Given the description of an element on the screen output the (x, y) to click on. 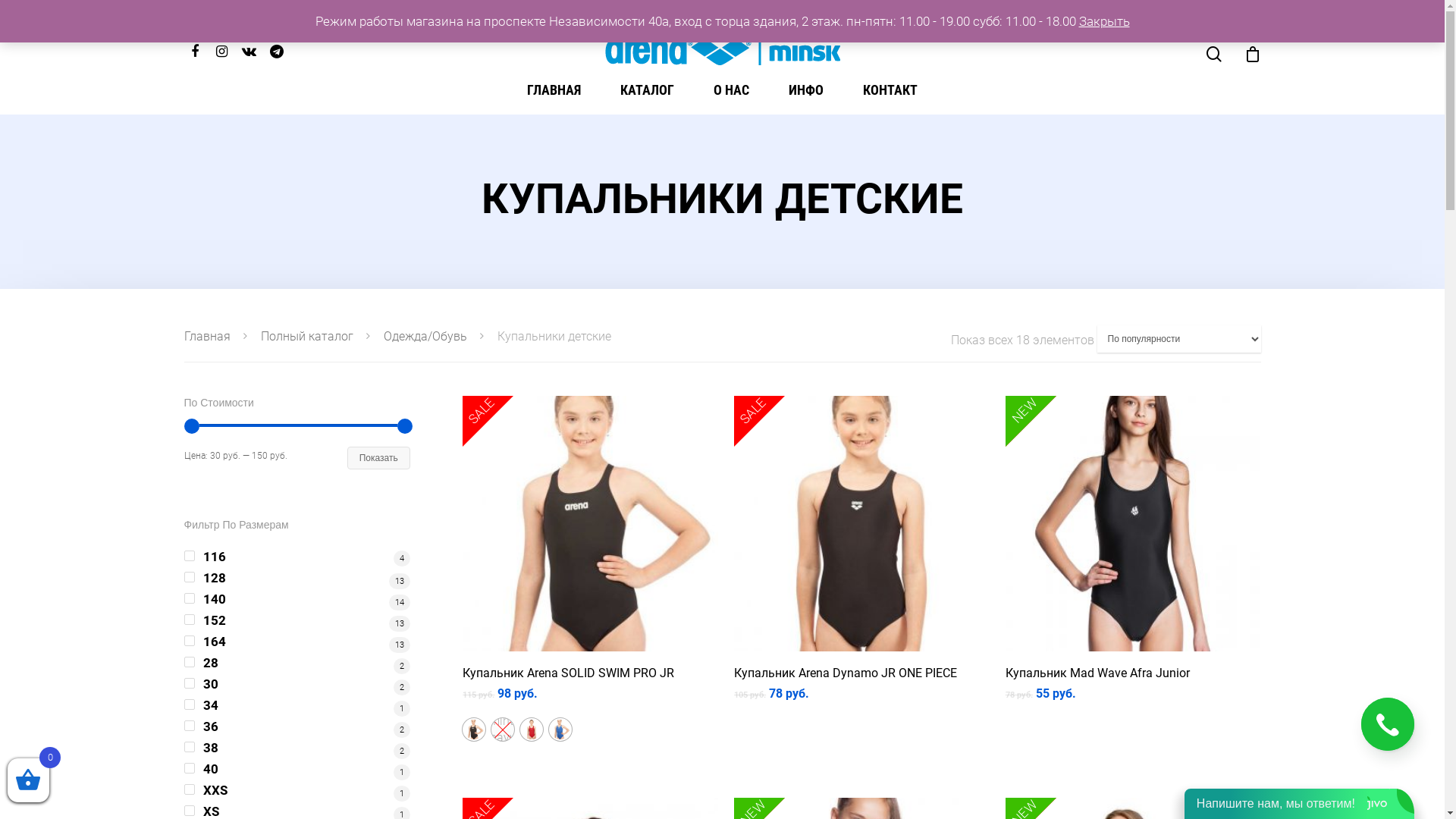
38 Element type: text (296, 747)
40 Element type: text (296, 768)
152 Element type: text (296, 619)
28 Element type: text (296, 662)
black-white Element type: hover (473, 729)
XXS Element type: text (296, 789)
34 Element type: text (296, 704)
116 Element type: text (296, 556)
128 Element type: text (296, 577)
36 Element type: text (296, 726)
164 Element type: text (296, 641)
red Element type: hover (531, 729)
30 Element type: text (296, 683)
140 Element type: text (296, 598)
